Given the description of an element on the screen output the (x, y) to click on. 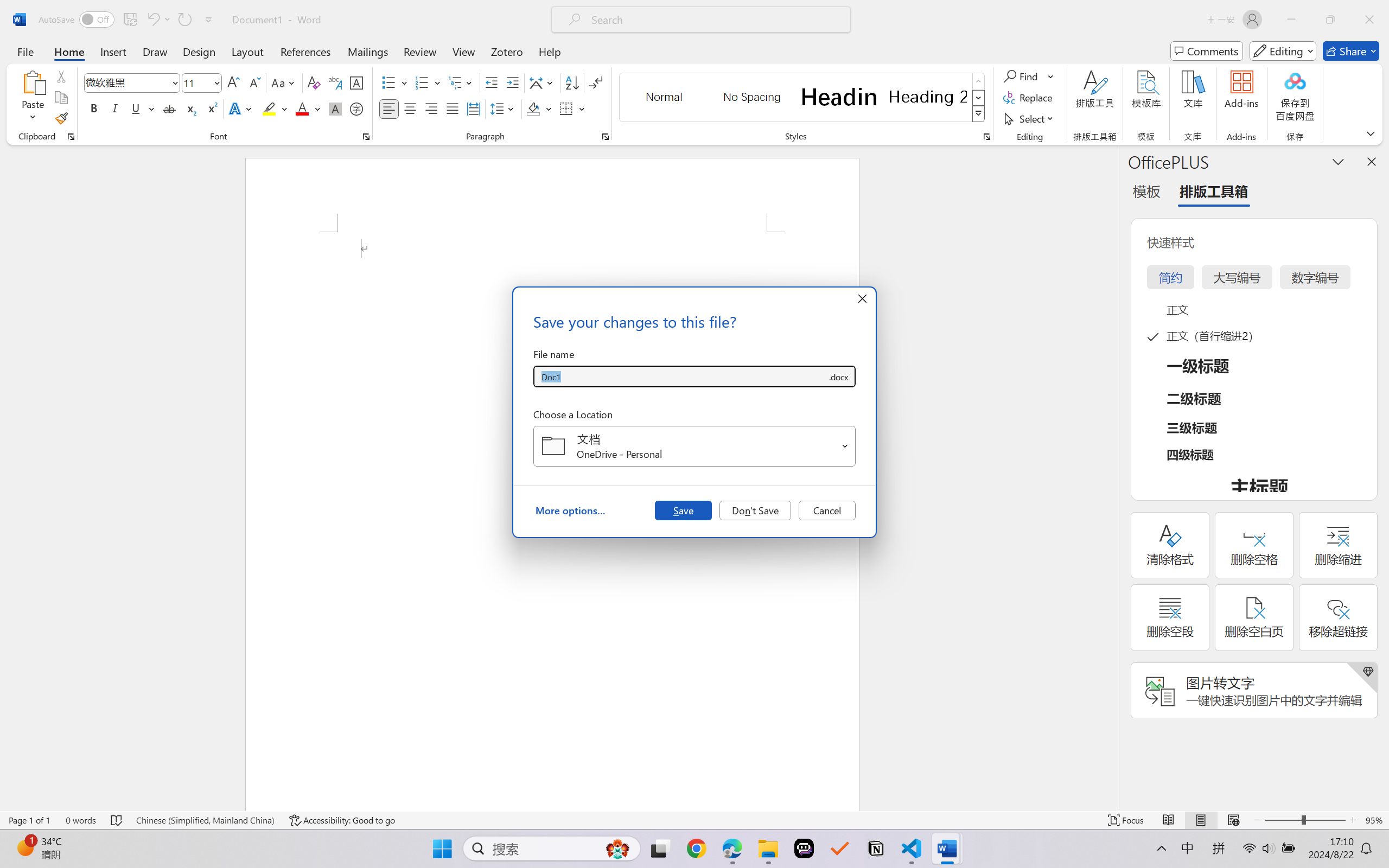
Choose a Location (694, 446)
Save as type (837, 376)
